Given the description of an element on the screen output the (x, y) to click on. 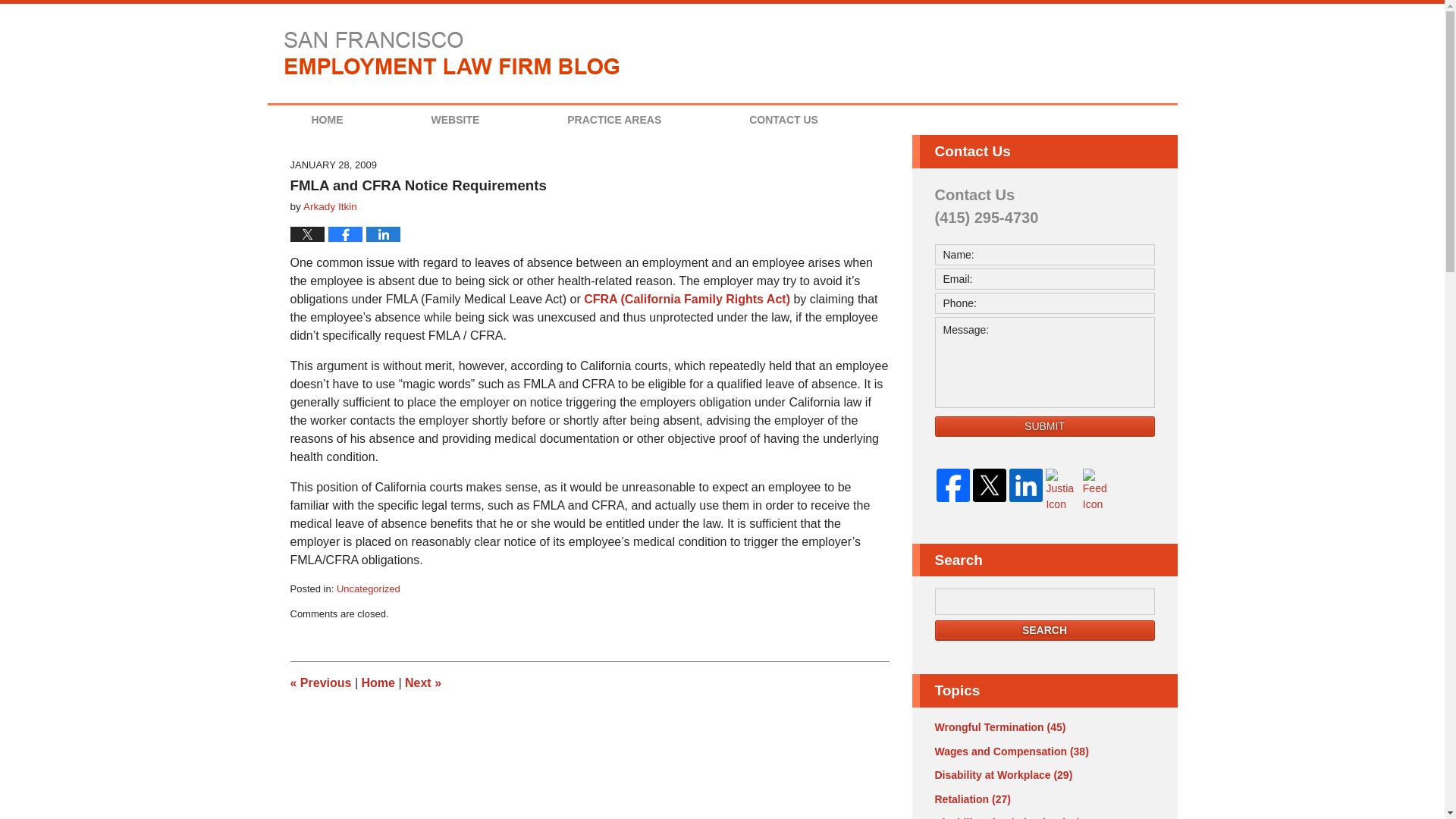
Arkady Itkin (329, 206)
Published By The Law Office of Arkady Itkin (1086, 55)
LinkedIn (1025, 485)
WEBSITE (454, 120)
San Francisco Employment Law Firm Blog (451, 52)
Feed (1099, 490)
Discrimination and Injured Workers Rights (319, 682)
Please enter a valid phone number. (1044, 302)
Uncategorized (368, 588)
SEARCH (1044, 629)
HOME (326, 120)
SUBMIT (1044, 426)
CONTACT US (782, 120)
Justia (1061, 490)
Facebook (952, 485)
